Given the description of an element on the screen output the (x, y) to click on. 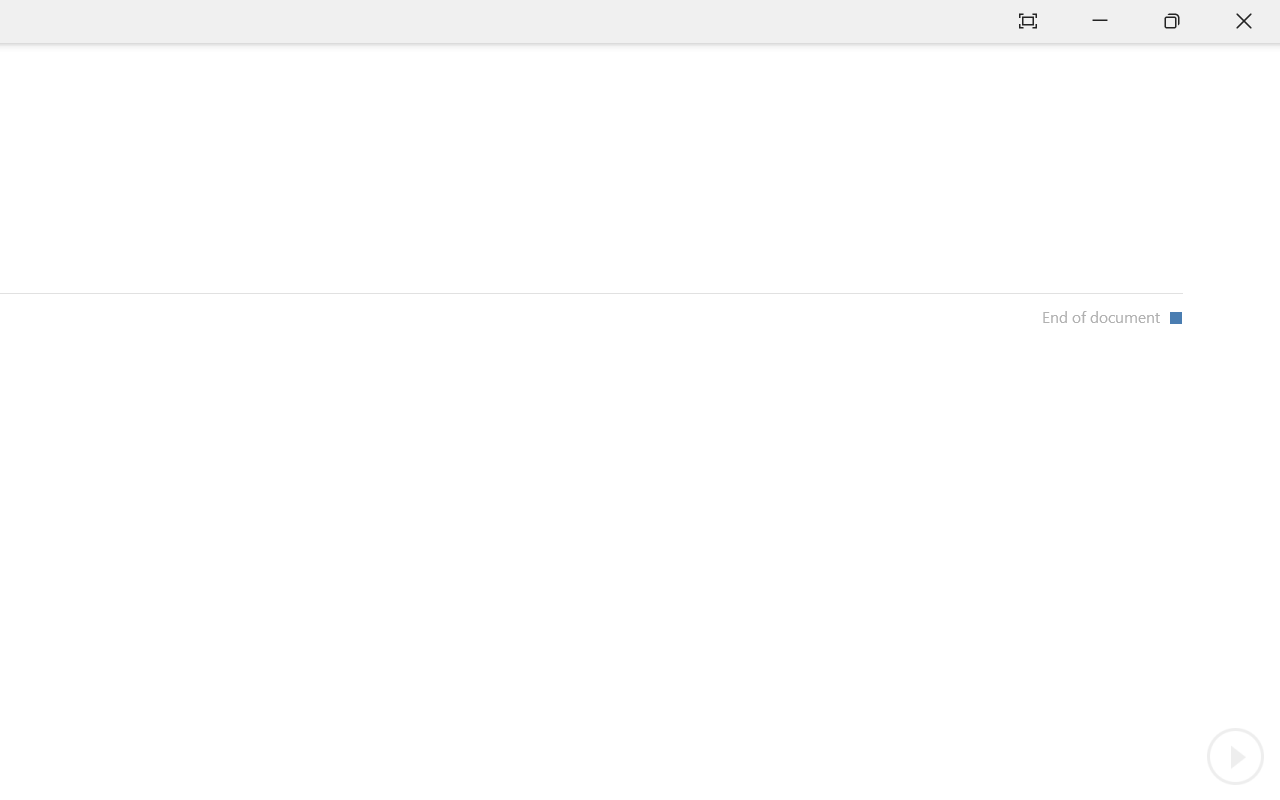
Auto-hide Reading Toolbar (1027, 21)
